Given the description of an element on the screen output the (x, y) to click on. 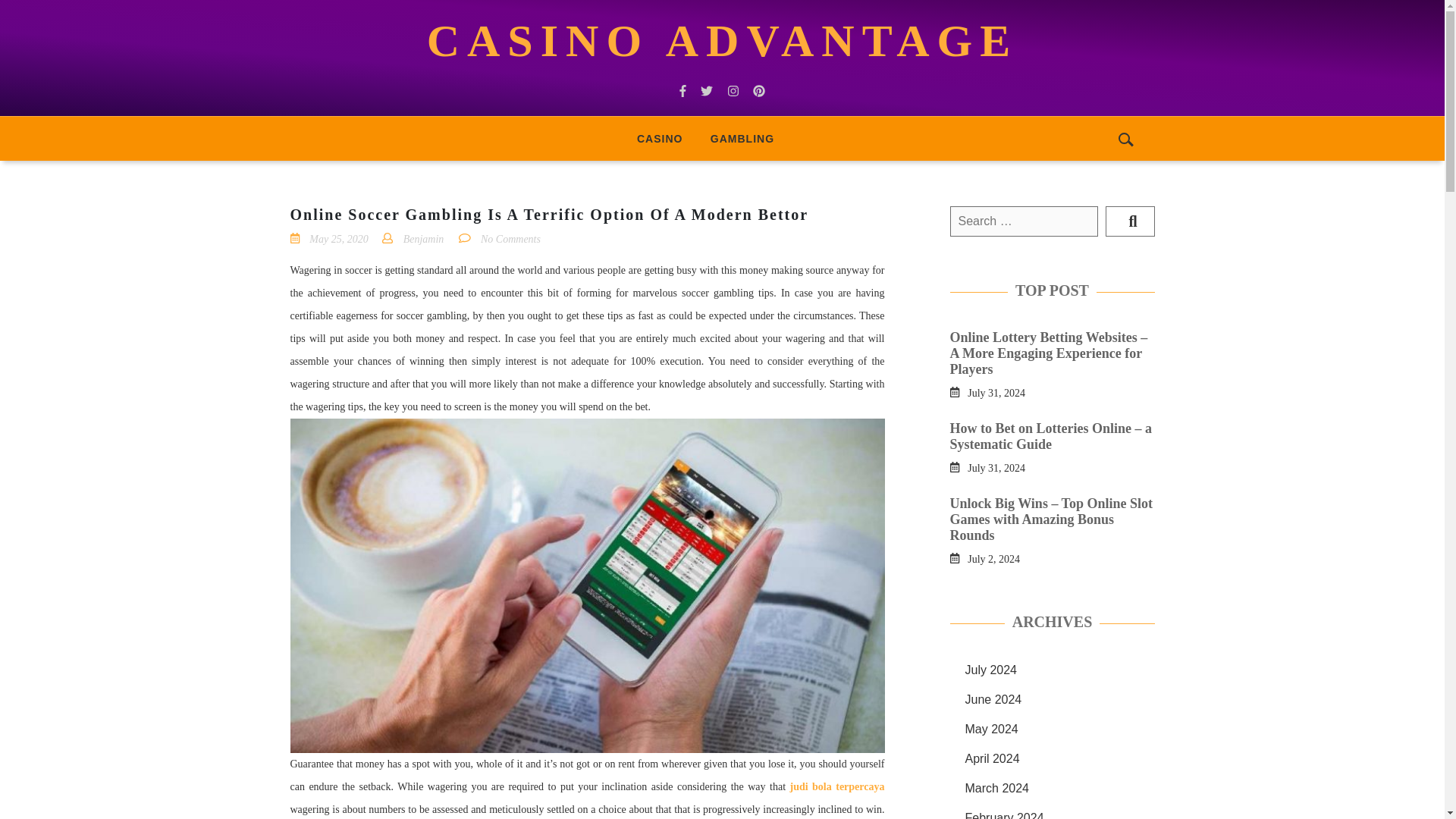
GAMBLING (742, 138)
Gambling (742, 138)
February 2024 (1003, 815)
March 2024 (996, 788)
July 31, 2024 (996, 467)
July 2024 (989, 669)
Search (1129, 221)
July 2, 2024 (994, 558)
July 31, 2024 (996, 391)
May 2024 (990, 728)
